Given the description of an element on the screen output the (x, y) to click on. 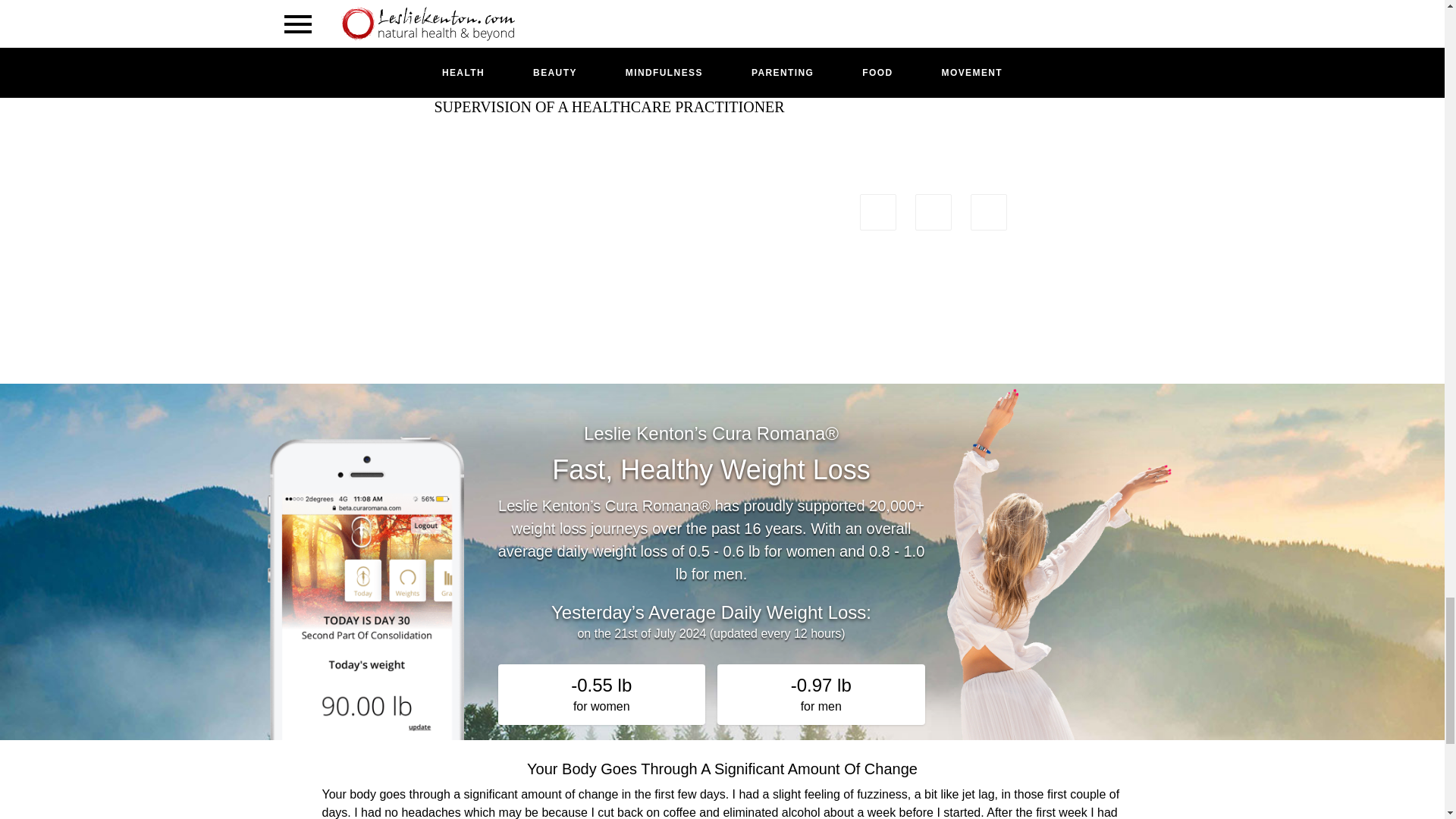
Order 200mg of Zen from iherb (744, 38)
